Given the description of an element on the screen output the (x, y) to click on. 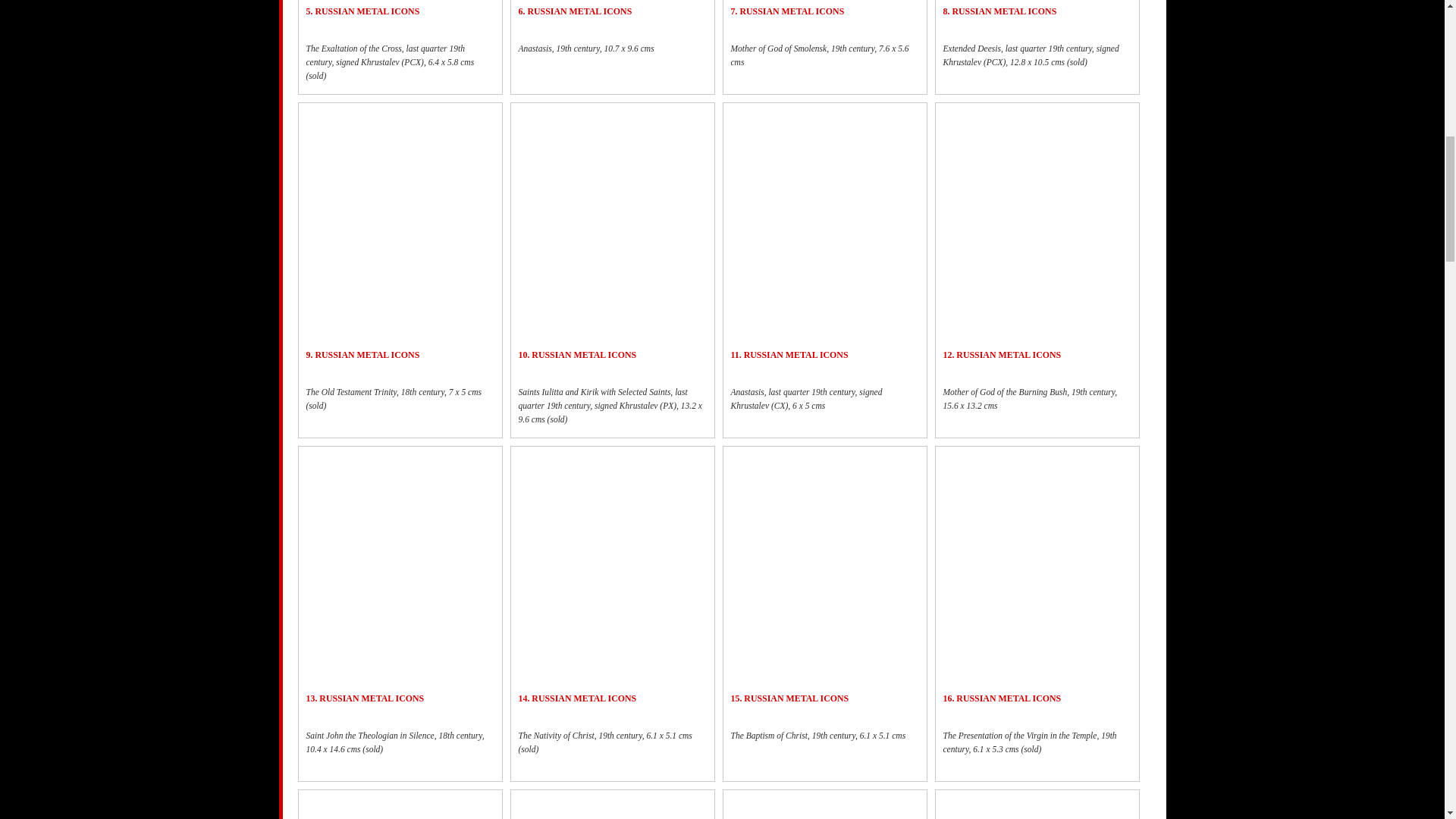
10. RUSSIAN METAL ICONS (577, 354)
Mother of God of Smolensk, 19th century, 7.6 x 5.6 cms (824, 61)
11. Russian Metal Icons (824, 214)
9. RUSSIAN METAL ICONS (362, 354)
Anastasis, 19th century, 10.7 x 9.6 cms (612, 54)
8. RUSSIAN METAL ICONS (1000, 10)
17. Russian Metal Icons (400, 807)
6. RUSSIAN METAL ICONS (574, 10)
5. RUSSIAN METAL ICONS (362, 10)
16. Russian Metal Icons (1037, 559)
13. Russian Metal Icons (400, 521)
7. RUSSIAN METAL ICONS (787, 10)
